Given the description of an element on the screen output the (x, y) to click on. 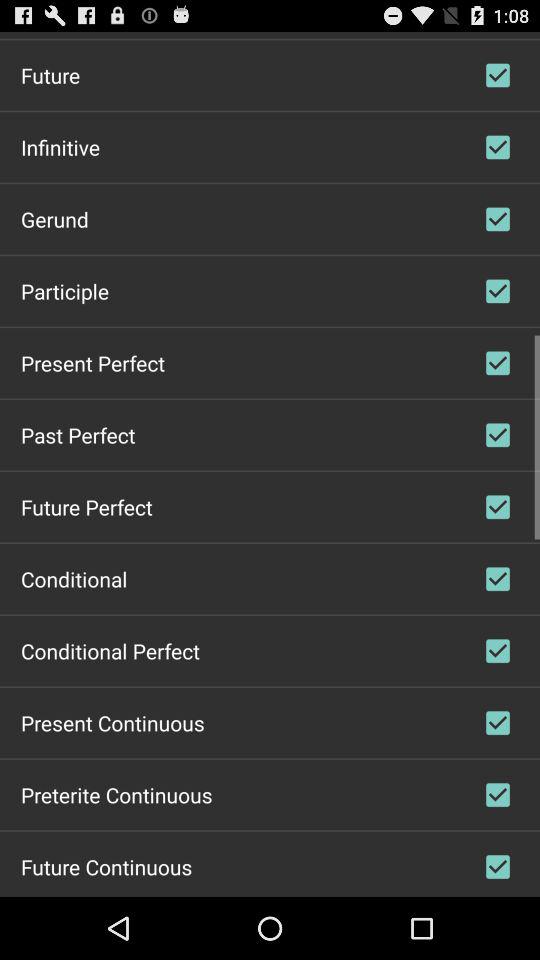
press item below participle item (92, 362)
